Given the description of an element on the screen output the (x, y) to click on. 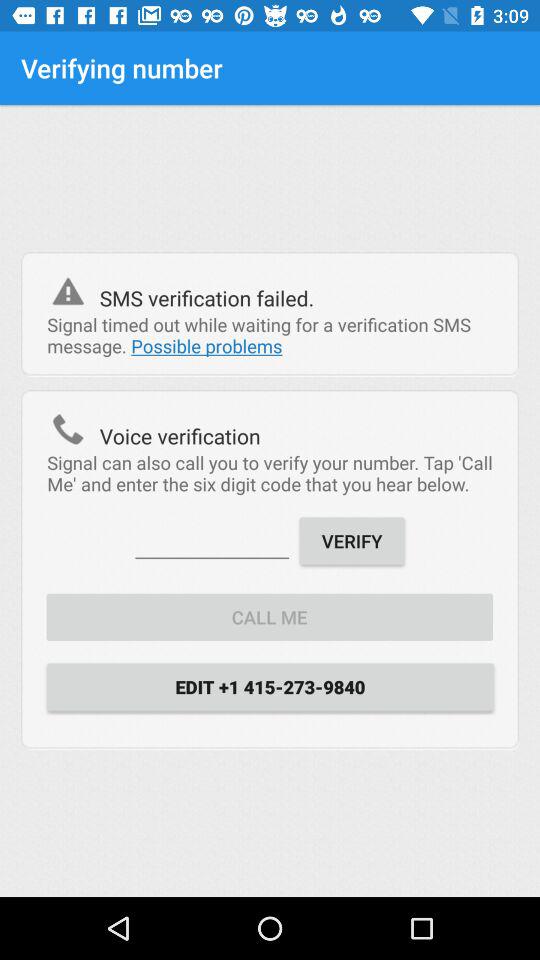
turn off item to the left of verify item (212, 539)
